Given the description of an element on the screen output the (x, y) to click on. 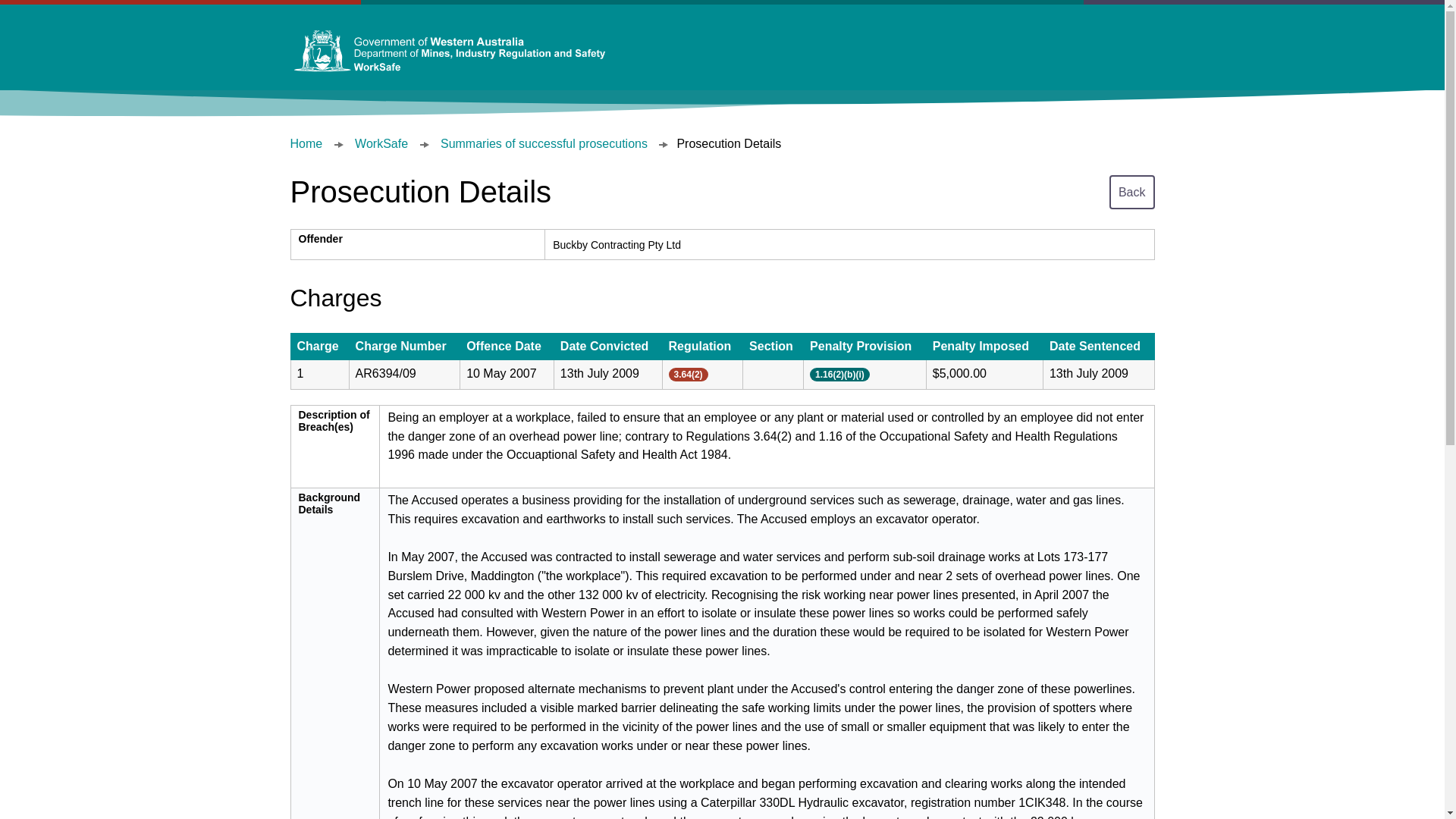
Back to Search Results (1131, 191)
Home (305, 142)
WorkSafe (381, 142)
Department of Mines, Industry Regulation and Safety - Home (449, 52)
Back (1131, 191)
Department of Mines, Industry Regulation and Safety (449, 52)
Summaries of successful prosecutions (544, 142)
